Given the description of an element on the screen output the (x, y) to click on. 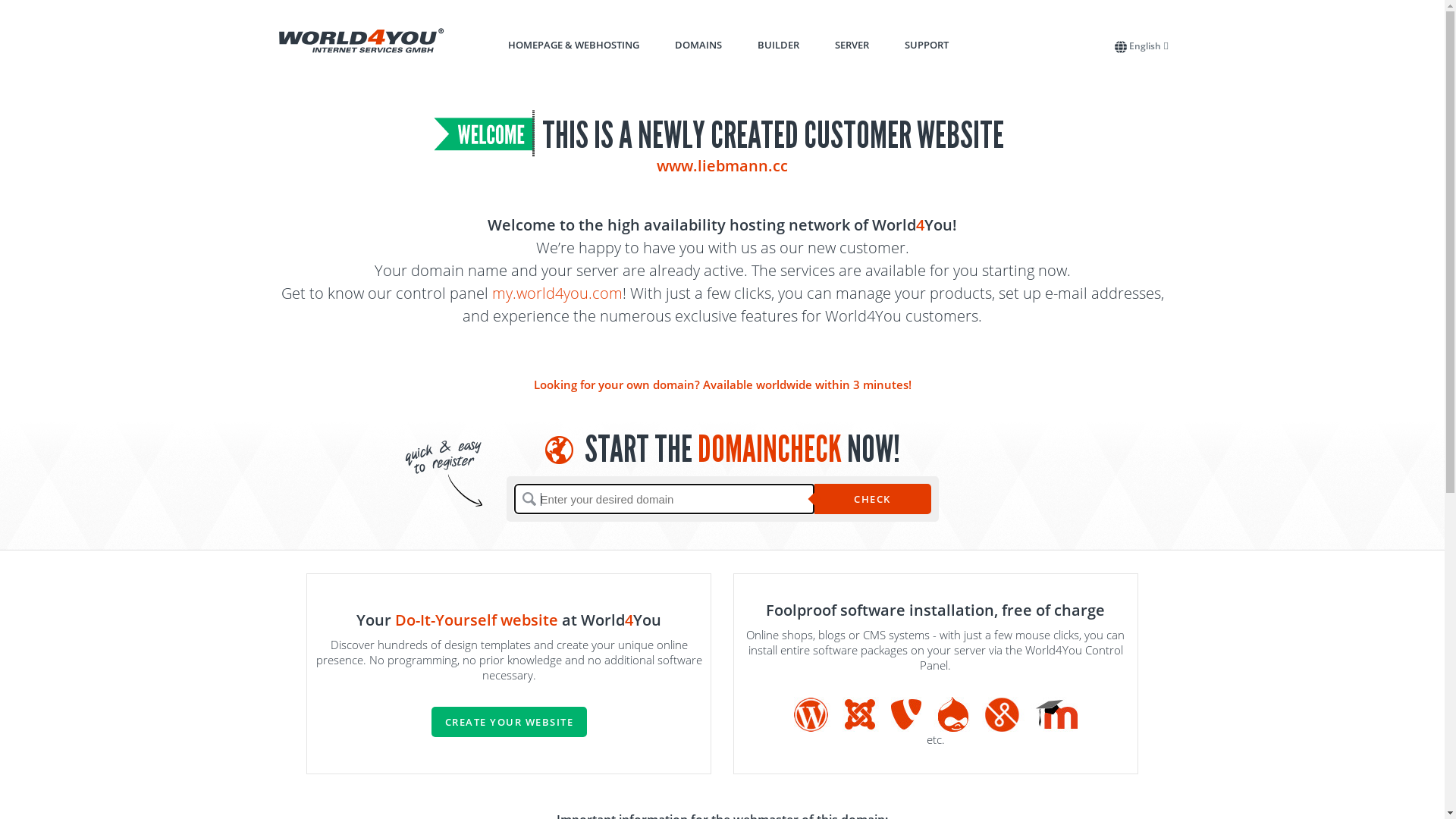
my.world4you.com Element type: text (556, 292)
To the World4You Homepage Element type: hover (361, 40)
CREATE YOUR WEBSITE Element type: text (508, 721)
HOMEPAGE & WEBHOSTING Element type: text (573, 44)
BUILDER Element type: text (777, 44)
SUPPORT Element type: text (925, 44)
DOMAINS Element type: text (697, 44)
CHECK Element type: text (872, 498)
SERVER Element type: text (851, 44)
